Given the description of an element on the screen output the (x, y) to click on. 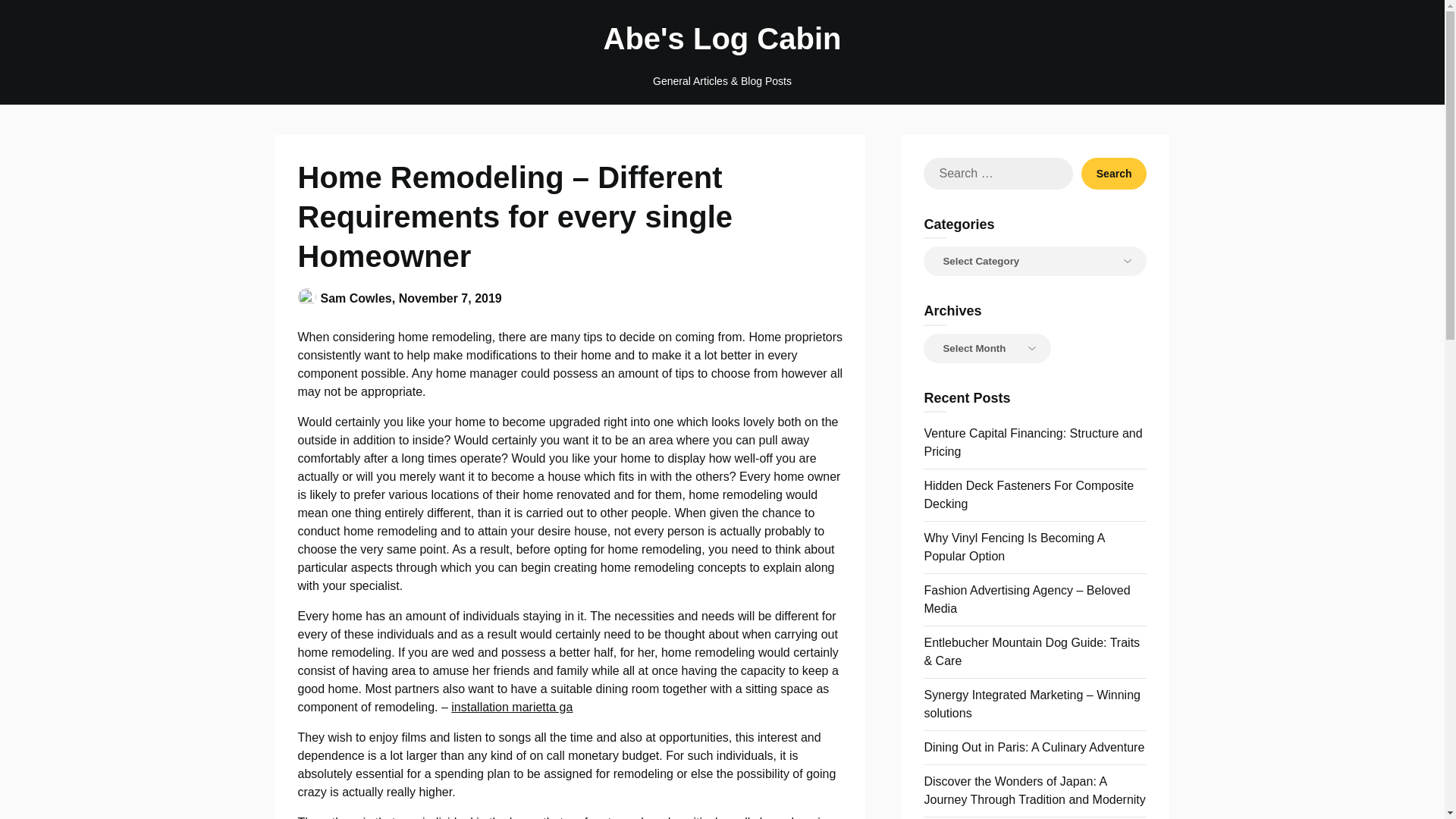
Why Vinyl Fencing Is Becoming A Popular Option (1013, 546)
Search (1114, 173)
Abe's Log Cabin (722, 38)
November 7, 2019 (450, 297)
Search (1114, 173)
Dining Out in Paris: A Culinary Adventure (1033, 747)
installation marietta ga (511, 707)
Hidden Deck Fasteners For Composite Decking (1028, 494)
Venture Capital Financing: Structure and Pricing (1032, 441)
